Given the description of an element on the screen output the (x, y) to click on. 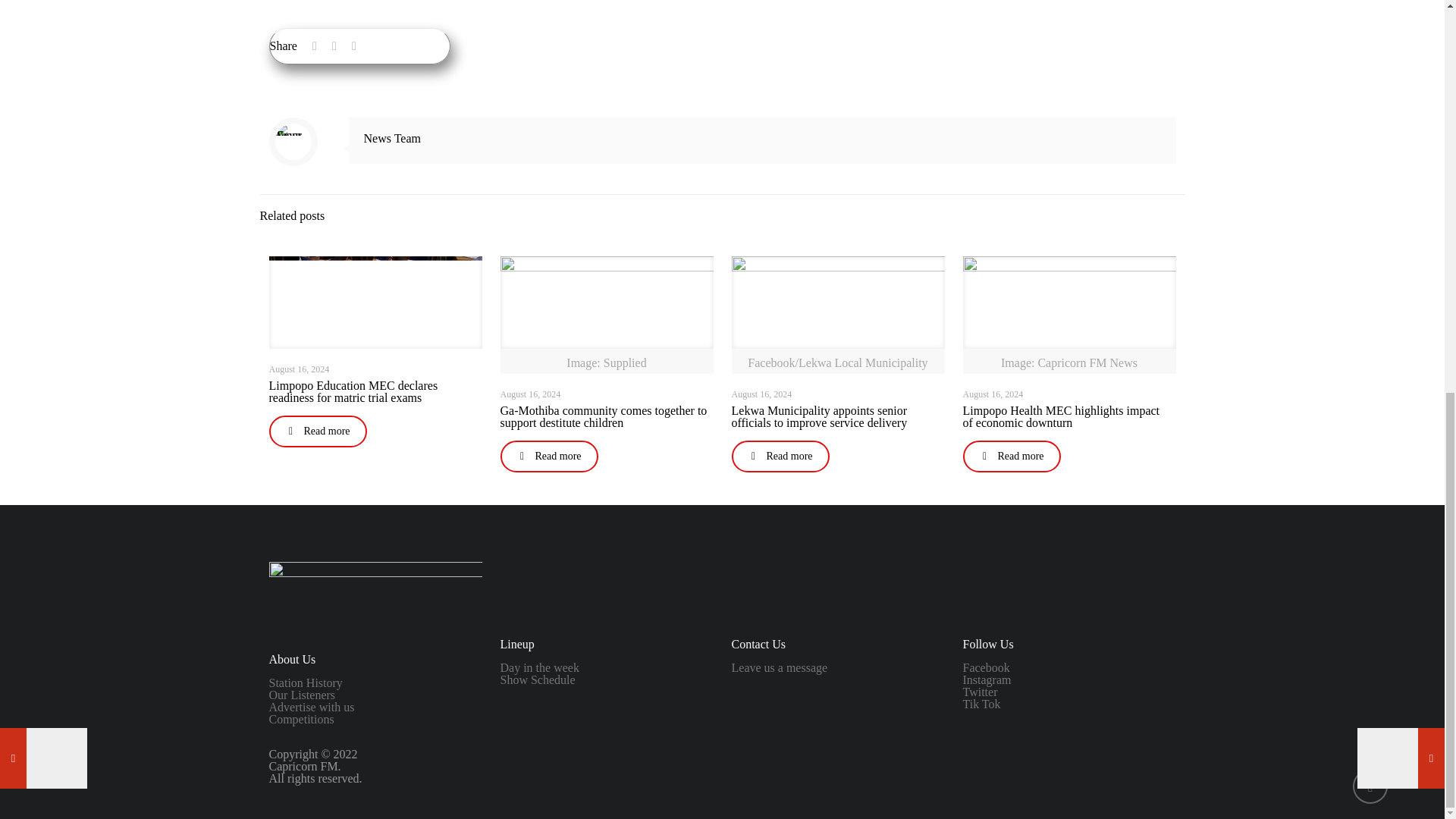
Read more (316, 431)
Read more (549, 456)
News Team (392, 137)
